Given the description of an element on the screen output the (x, y) to click on. 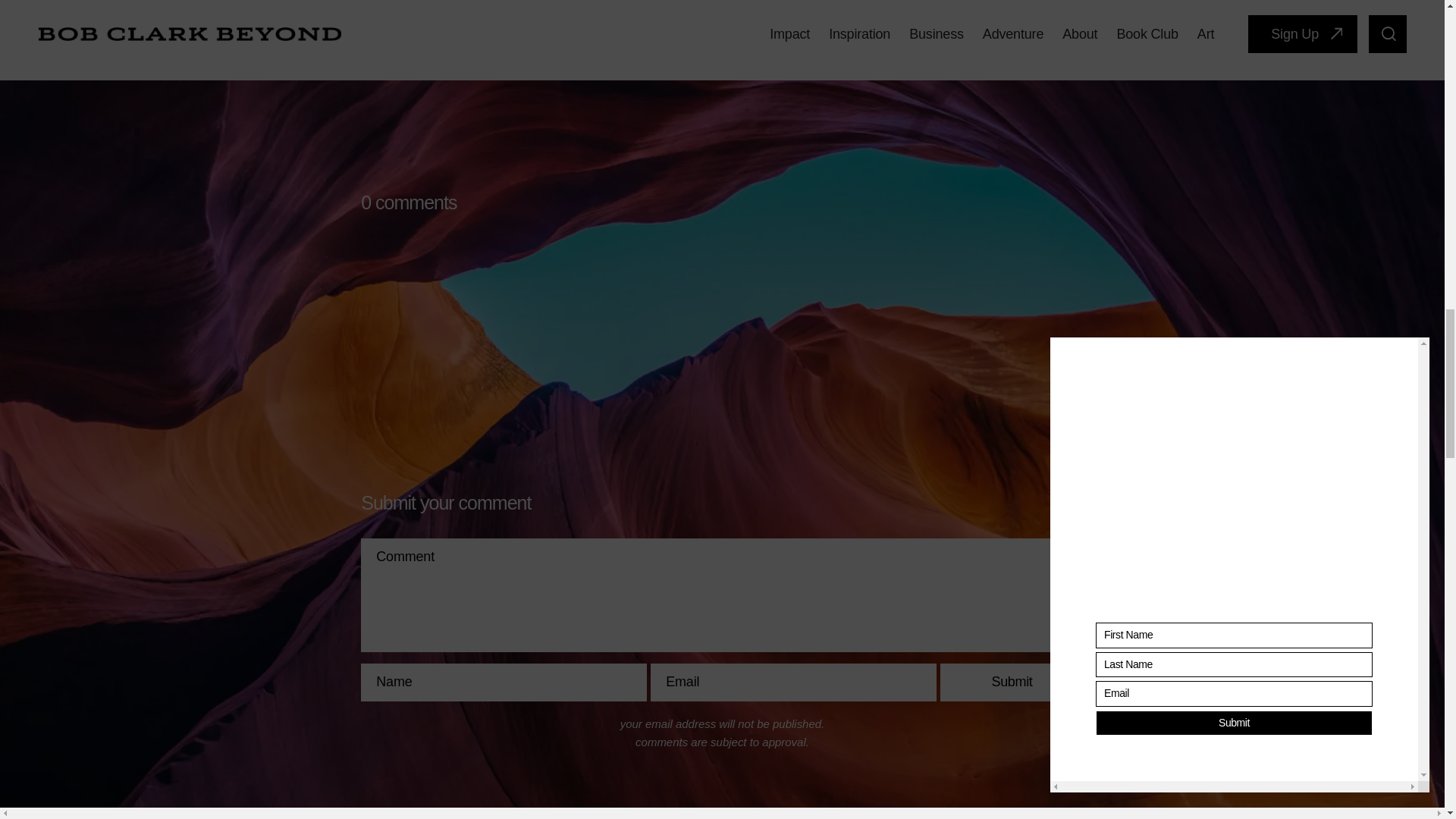
Submit (1011, 682)
Submit (1011, 682)
